Given the description of an element on the screen output the (x, y) to click on. 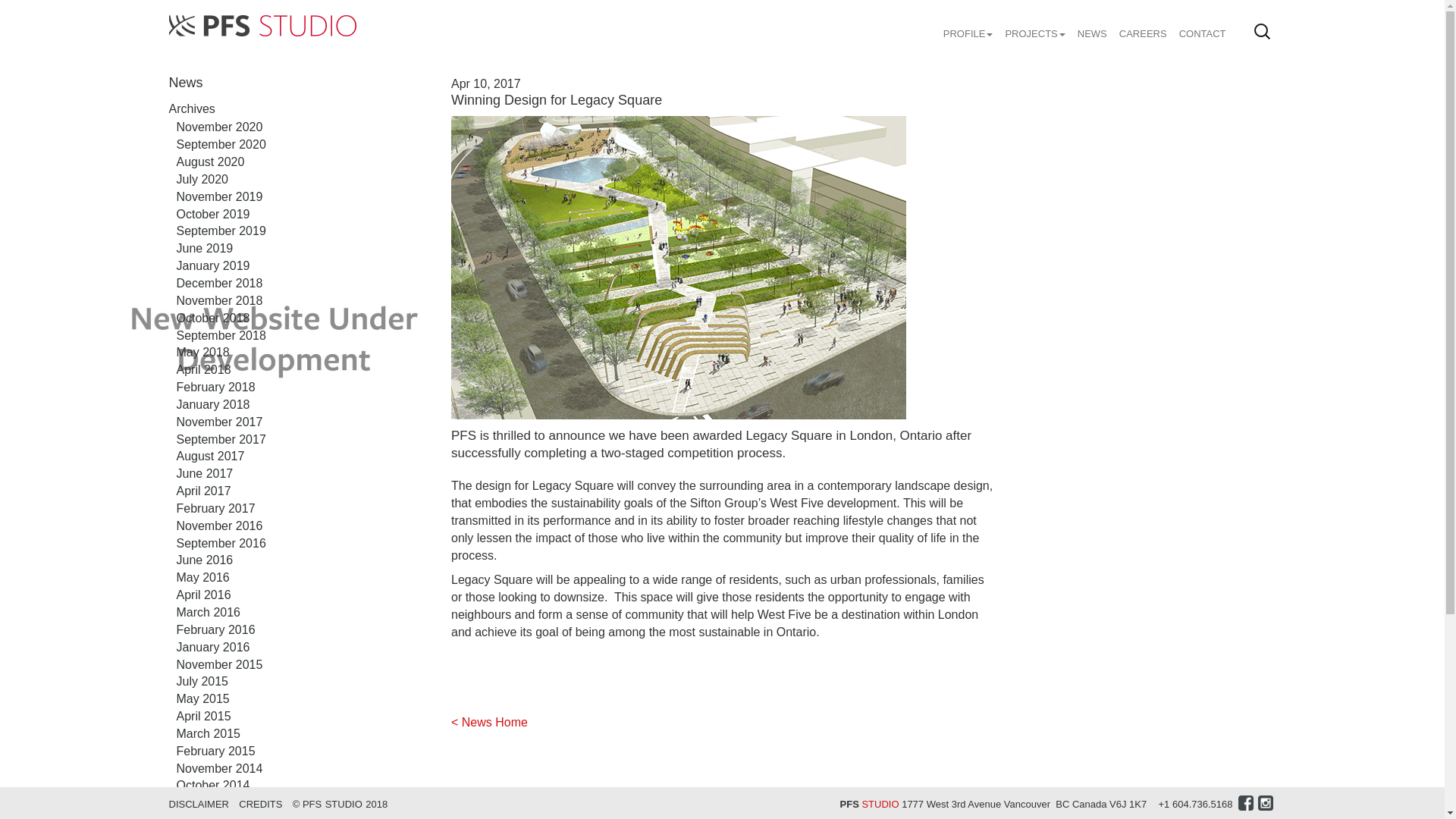
July 2020 (202, 178)
April 2017 (203, 490)
January 2019 (212, 265)
CAREERS (1143, 26)
September 2019 (220, 230)
November 2017 (219, 421)
November 2018 (219, 300)
November 2019 (219, 196)
Search efter: (1262, 31)
CONTACT (1200, 26)
PROFILE (967, 26)
September 2020 (220, 144)
November 2020 (219, 126)
June 2017 (204, 472)
August 2020 (210, 161)
